Given the description of an element on the screen output the (x, y) to click on. 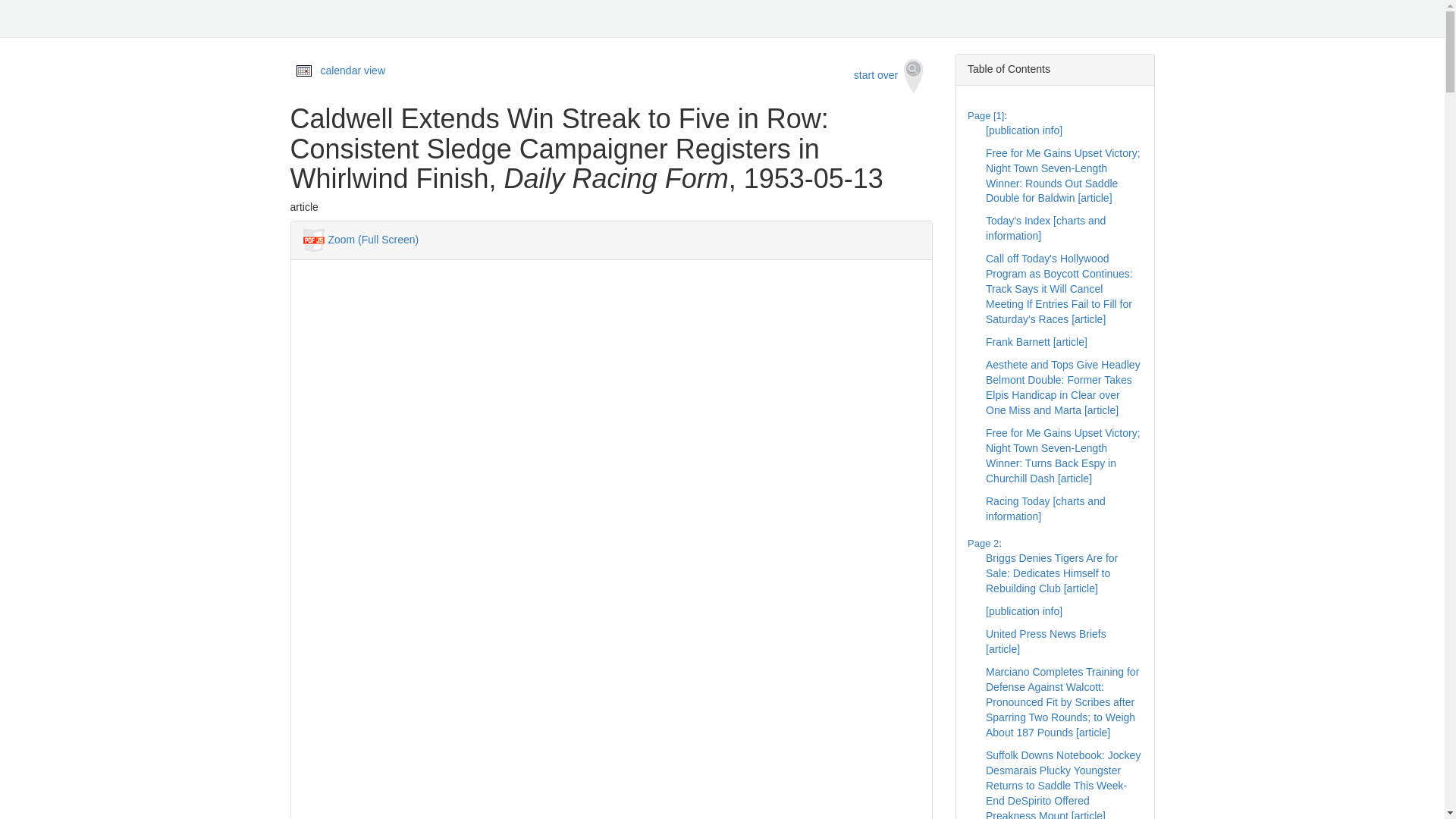
Page 2 (983, 542)
start over   (888, 76)
calendar view (352, 70)
